Given the description of an element on the screen output the (x, y) to click on. 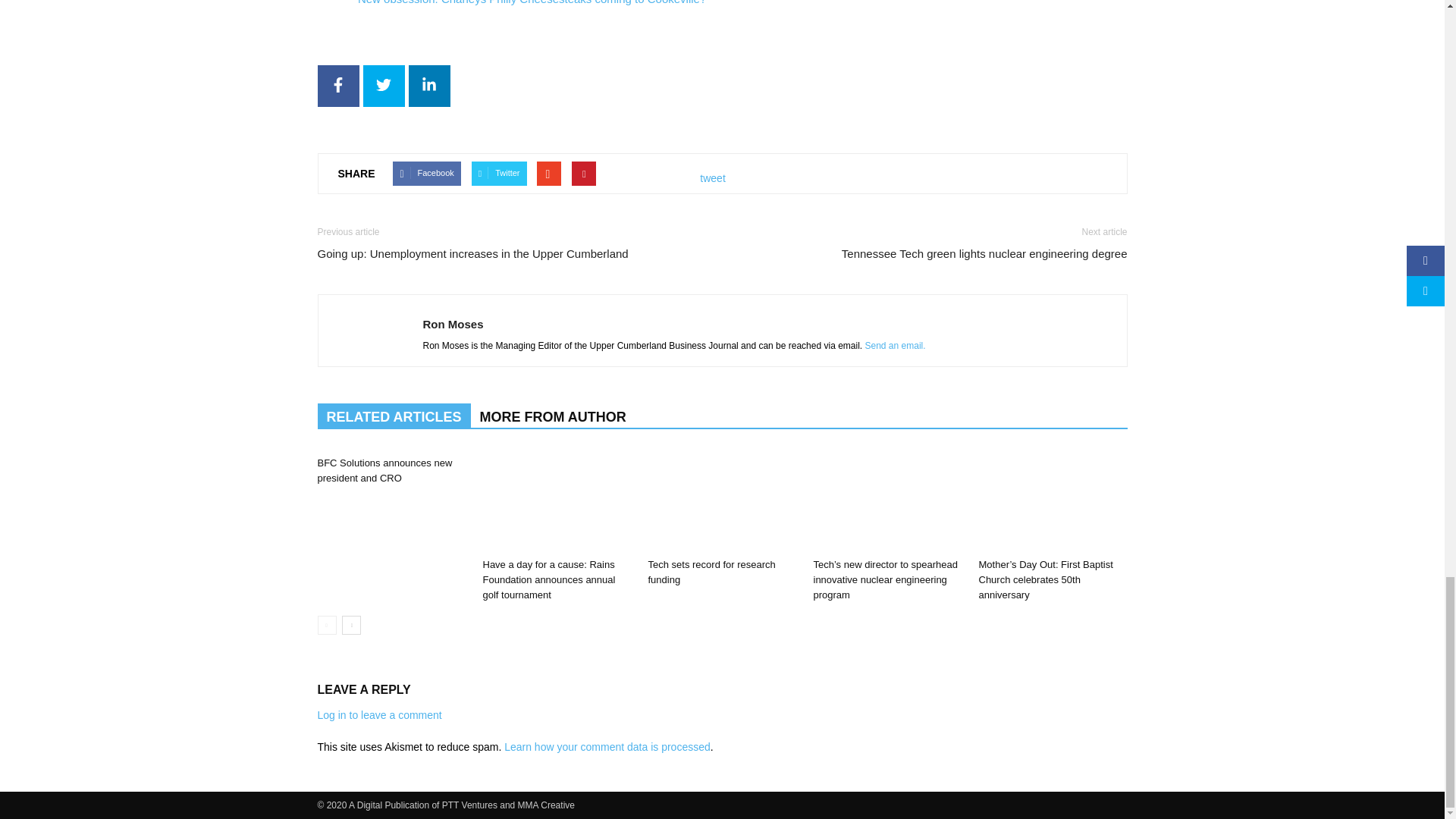
BFC Solutions announces new president and CRO (384, 470)
